Given the description of an element on the screen output the (x, y) to click on. 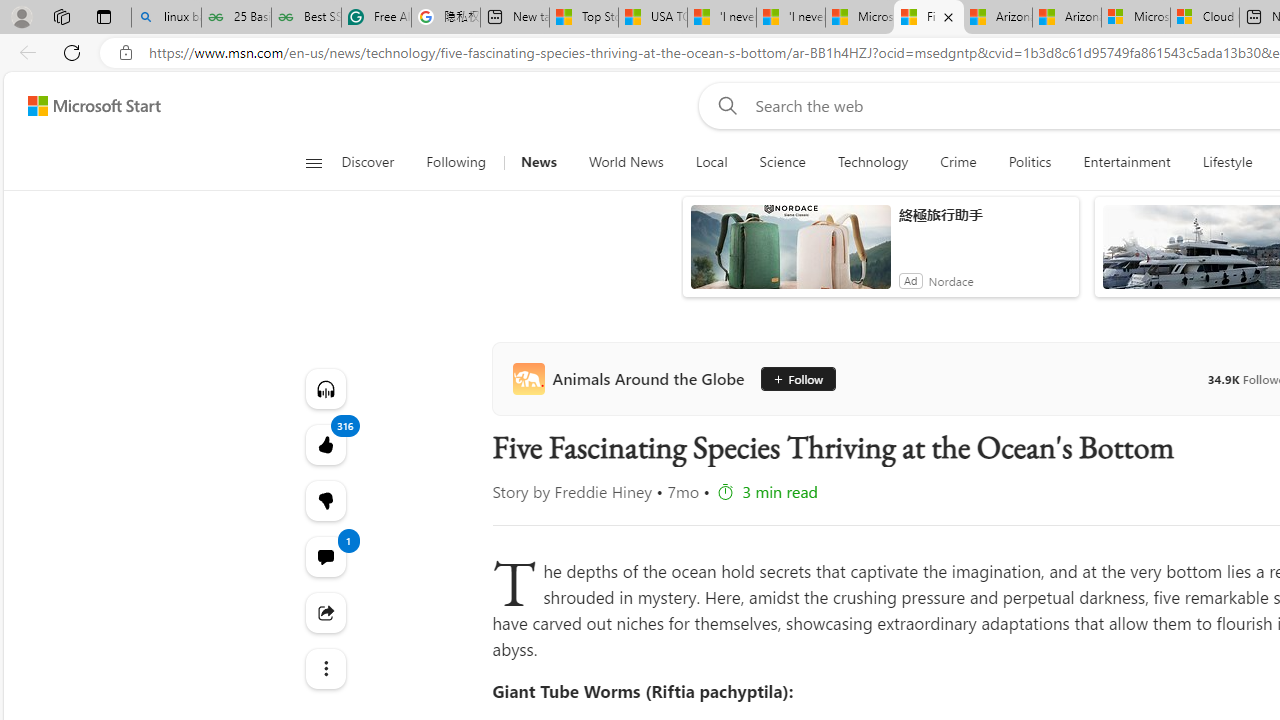
Dislike (324, 500)
316 (324, 500)
Free AI Writing Assistance for Students | Grammarly (375, 17)
Cloud Computing Services | Microsoft Azure (1205, 17)
Local (710, 162)
Follow (796, 378)
anim-content (789, 255)
Share this story (324, 612)
Crime (957, 162)
Lifestyle (1227, 162)
Crime (958, 162)
